Given the description of an element on the screen output the (x, y) to click on. 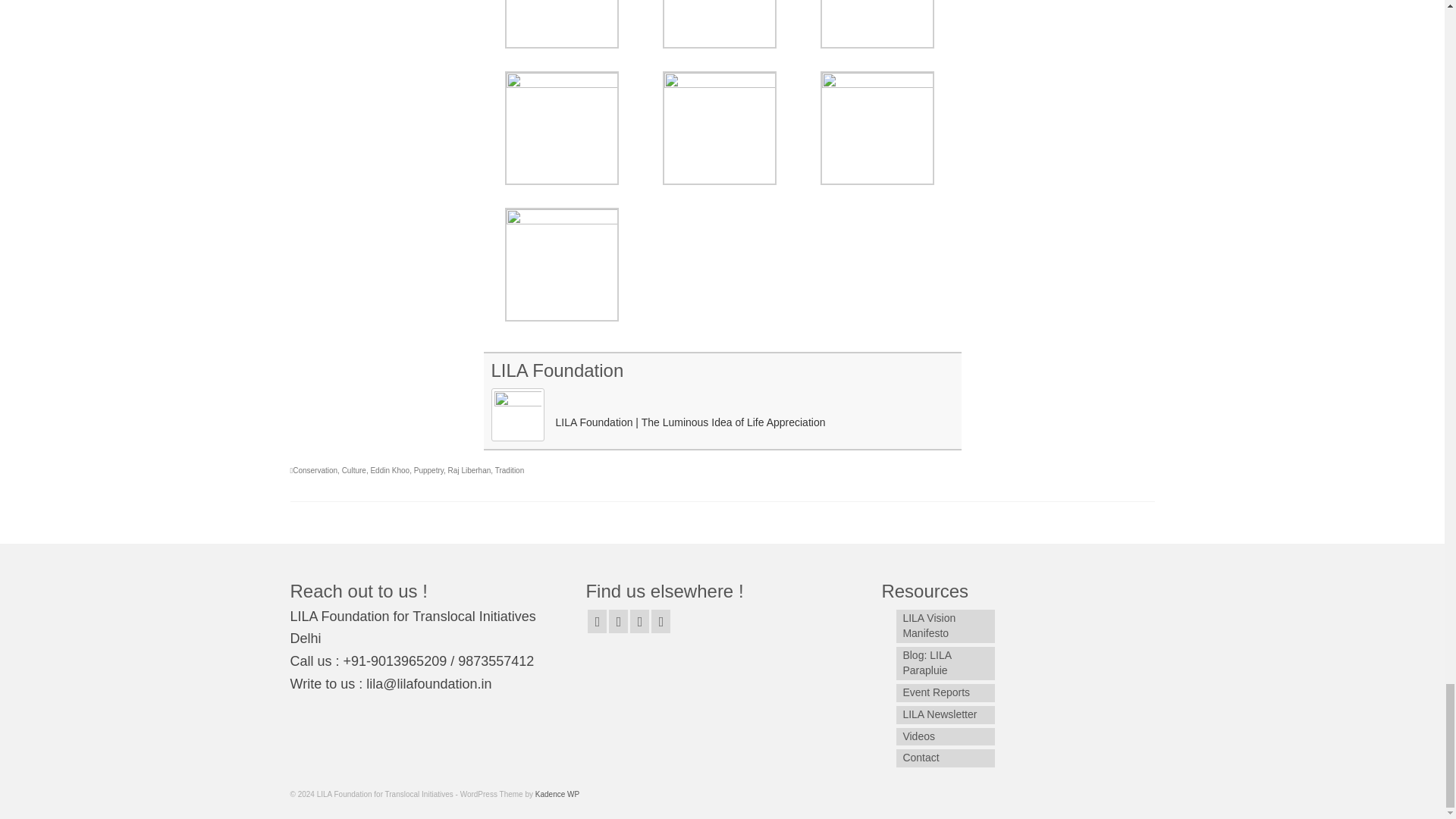
All posts by LILA Foundation (558, 370)
